Given the description of an element on the screen output the (x, y) to click on. 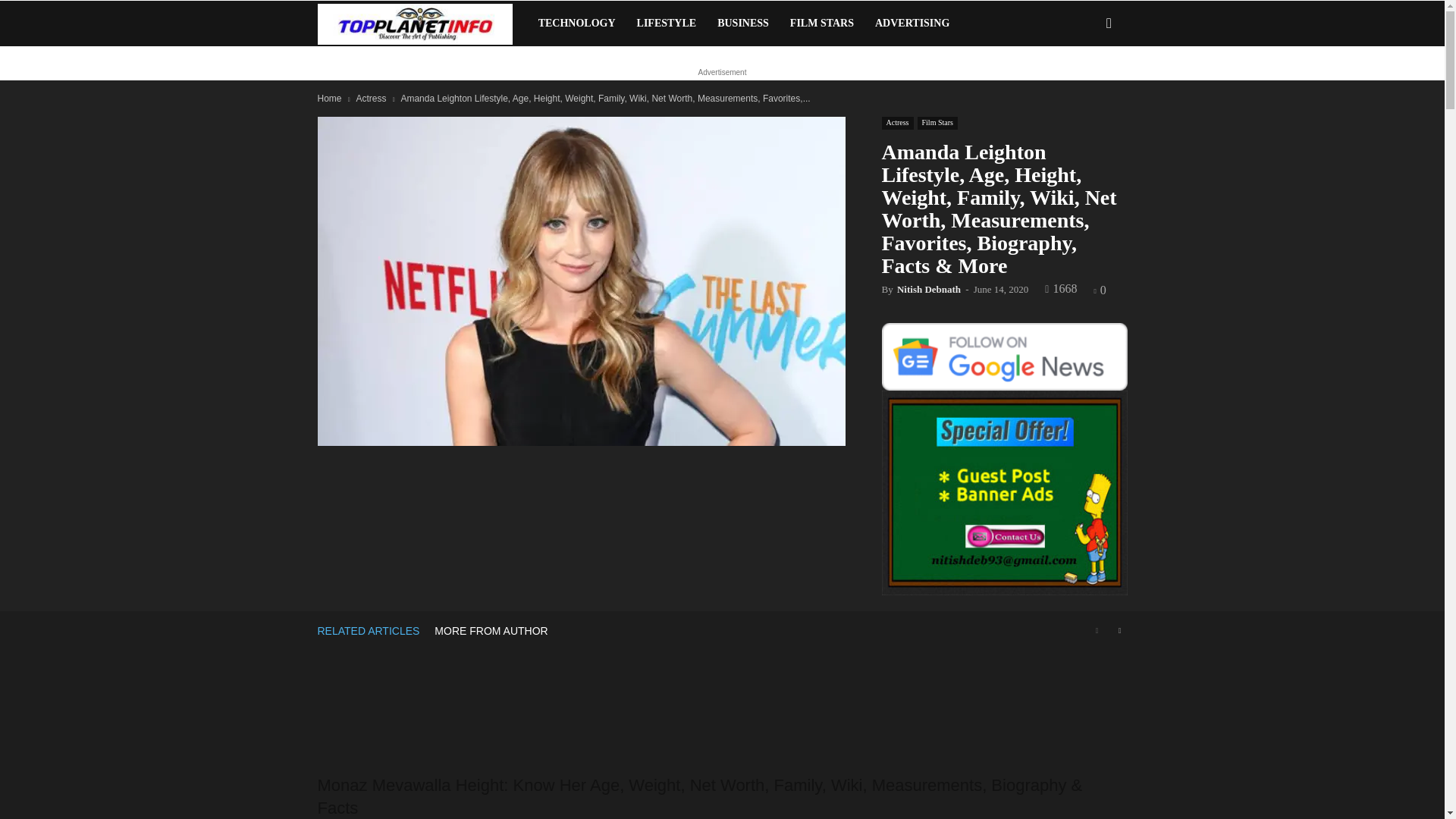
TECHNOLOGY (576, 22)
LIFESTYLE (666, 22)
